Given the description of an element on the screen output the (x, y) to click on. 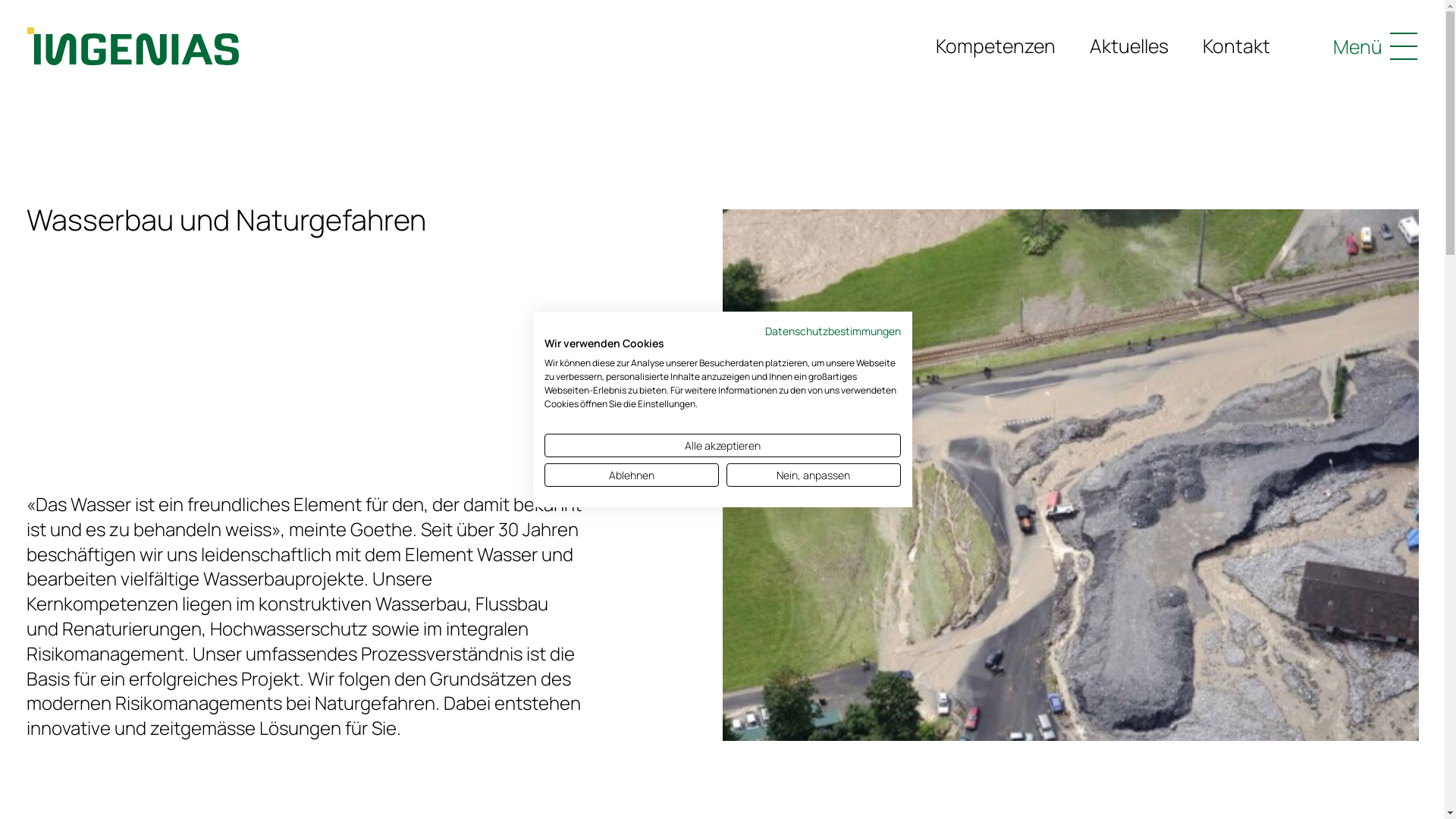
Nein, anpassen Element type: text (813, 474)
Aktuelles Element type: text (1128, 45)
Kontakt Element type: text (1236, 45)
Alle akzeptieren Element type: text (722, 445)
Ablehnen Element type: text (631, 474)
Datenschutzbestimmungen Element type: text (832, 330)
Kompetenzen Element type: text (995, 45)
